Given the description of an element on the screen output the (x, y) to click on. 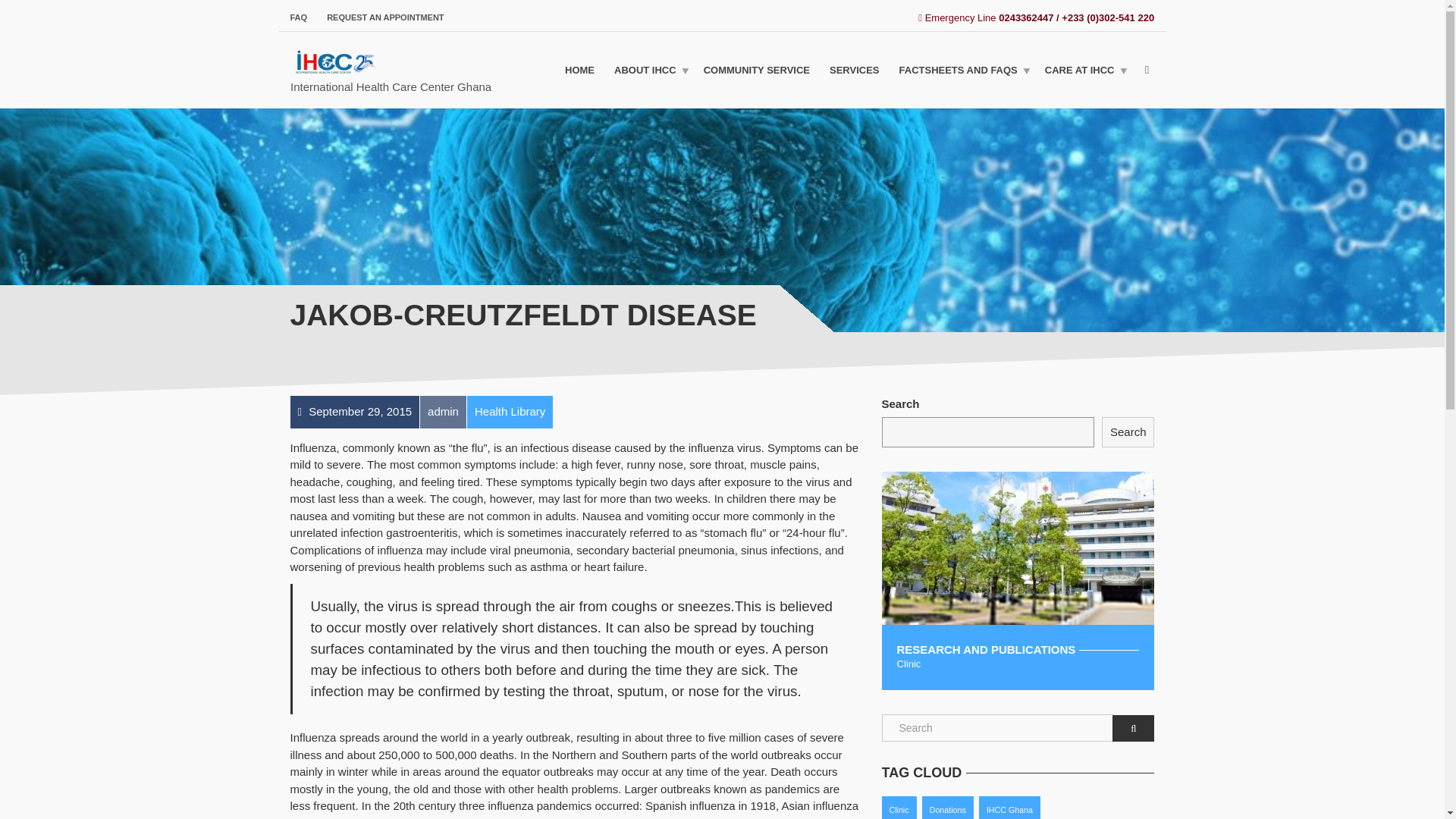
HOME (579, 69)
COMMUNITY SERVICE (756, 69)
REQUEST AN APPOINTMENT (380, 17)
REQUEST AN APPOINTMENT (380, 17)
Donations (947, 807)
Home (579, 69)
Community Service (756, 69)
FAQ (303, 17)
About IHCC (649, 69)
ABOUT IHCC (649, 69)
FAQ (303, 17)
SERVICES (854, 69)
IHCC Ghana (1009, 807)
Search (1128, 431)
Factsheets and FAQs (962, 69)
